Given the description of an element on the screen output the (x, y) to click on. 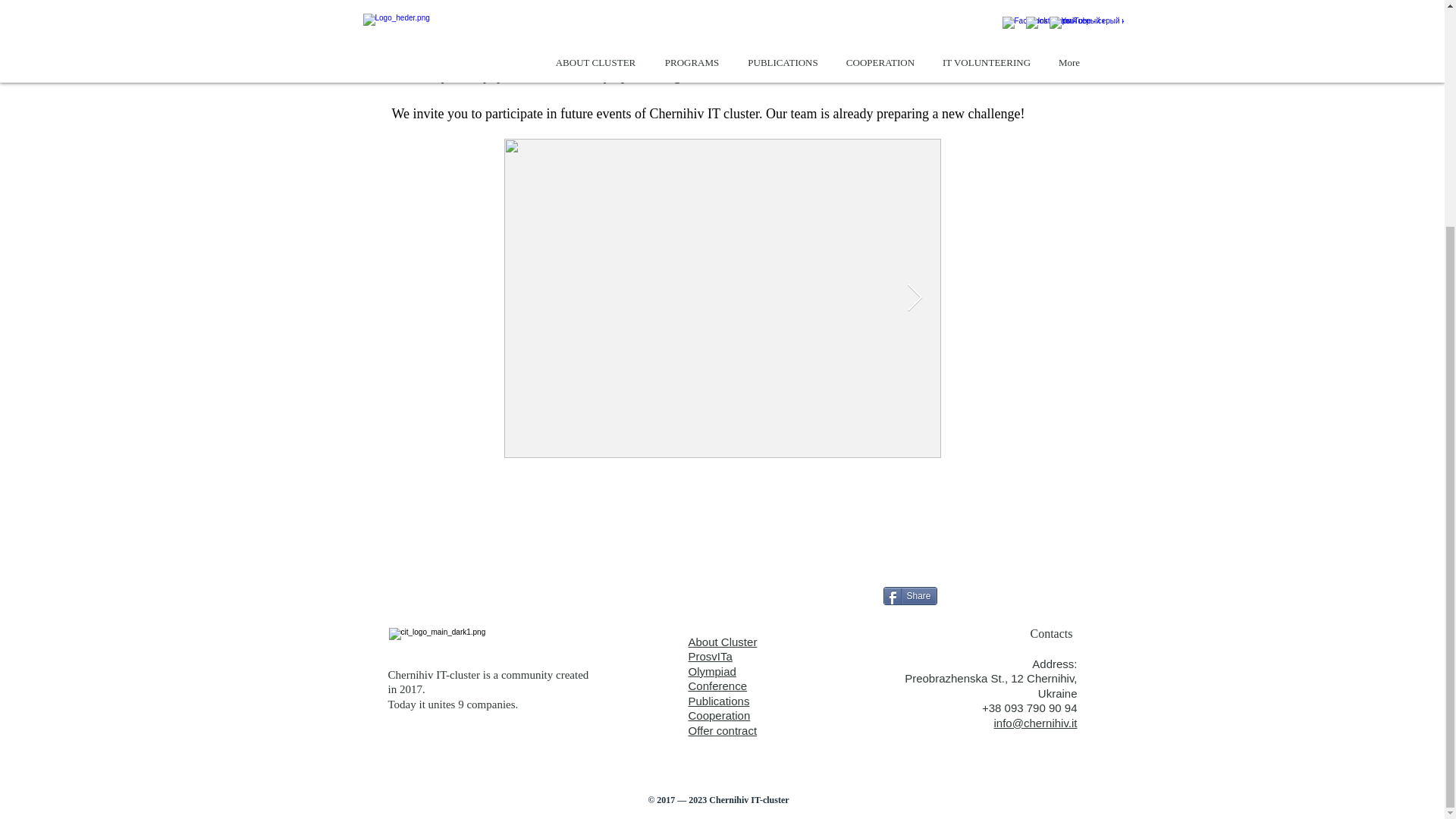
Publications (718, 700)
ProsvITa (710, 656)
About Cluster (722, 641)
Share (909, 596)
Olympiad (712, 671)
Share (909, 596)
Conference (722, 723)
